Given the description of an element on the screen output the (x, y) to click on. 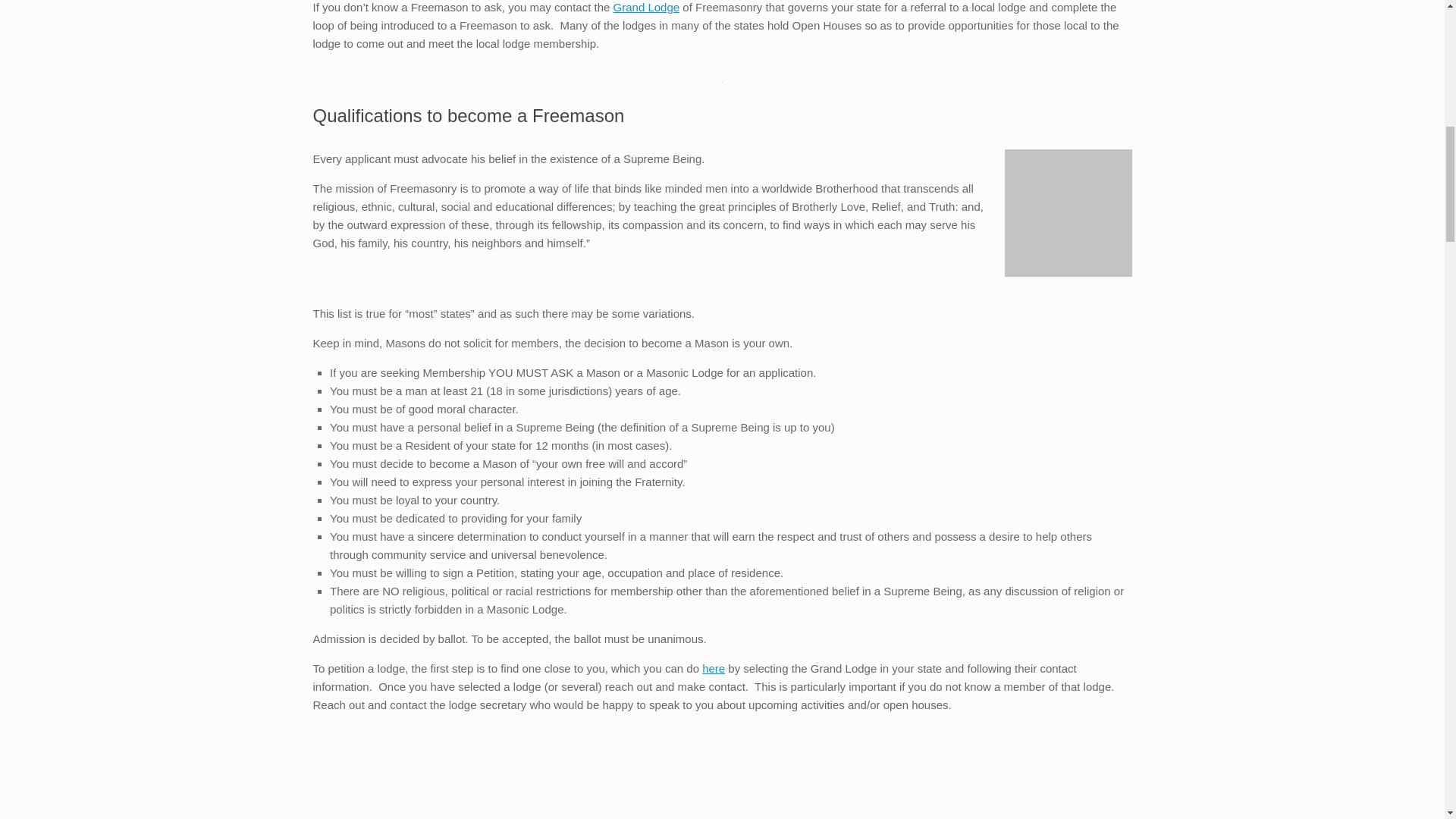
Grand Lodges (645, 6)
Grand Lodge (645, 6)
here (713, 667)
